Given the description of an element on the screen output the (x, y) to click on. 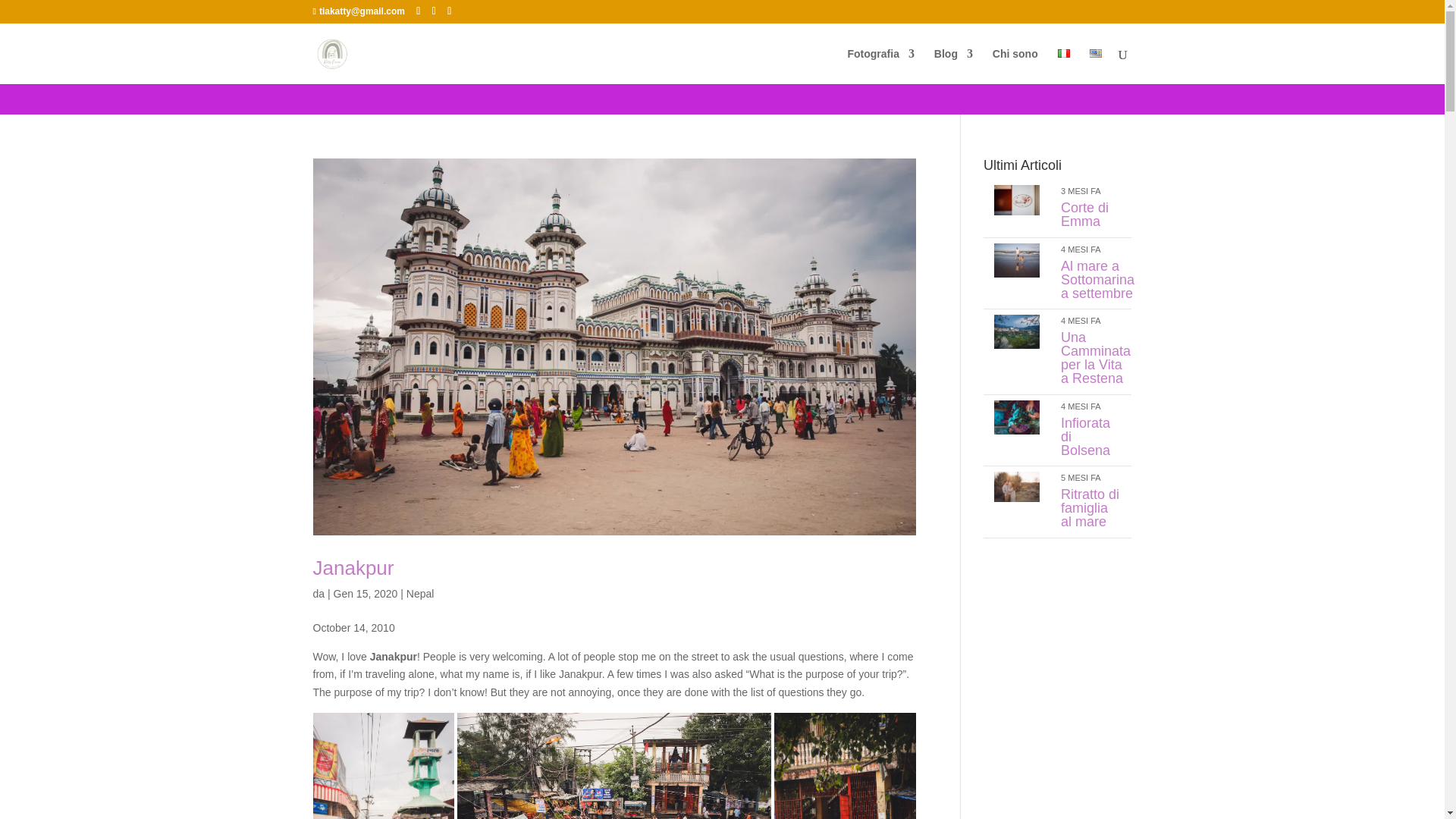
Apri un sito gratis con WordPress (1398, 11)
Blog (953, 66)
Corte di Emma (1016, 211)
Chi sono (1015, 66)
Corte di Emma (1084, 214)
Crea sito (1398, 11)
Fotografia (880, 66)
